Given the description of an element on the screen output the (x, y) to click on. 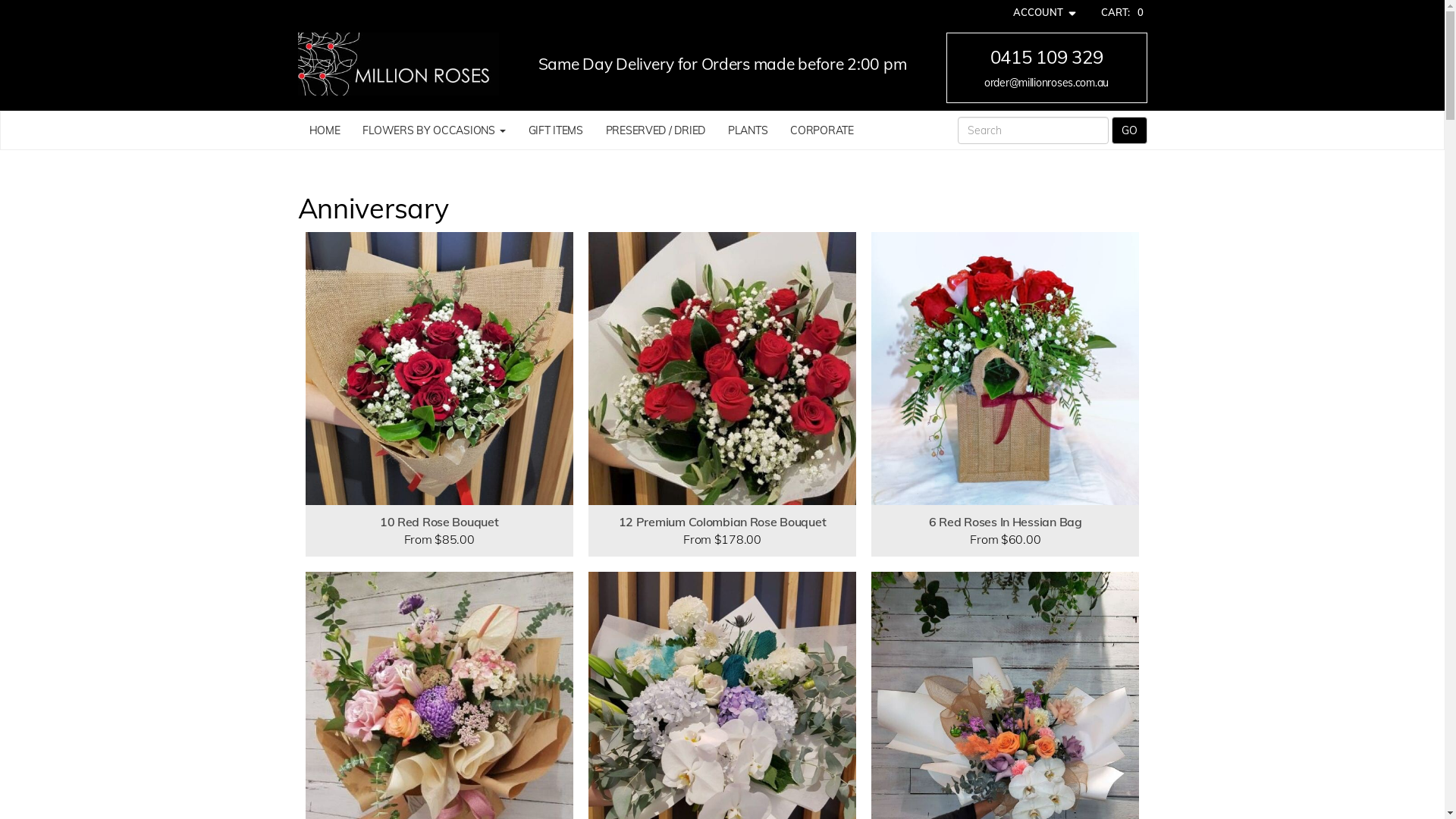
PLANTS Element type: text (747, 130)
6 Red roses in hessian bag Element type: hover (1005, 368)
12 Premium Colombian Rose Bouquet  Element type: hover (722, 368)
FLOWERS BY OCCASIONS Element type: text (433, 130)
HOME Element type: text (324, 130)
GIFT ITEMS Element type: text (555, 130)
10 Red Rose Bouquet Element type: hover (438, 368)
GO Element type: text (1129, 130)
0415 109 329 Element type: text (1046, 56)
ACCOUNT Element type: text (1045, 12)
CART: 0 Element type: text (1121, 12)
CORPORATE Element type: text (821, 130)
Million Roses Element type: hover (397, 63)
order@millionroses.com.au Element type: text (1046, 82)
PRESERVED / DRIED Element type: text (655, 130)
